Given the description of an element on the screen output the (x, y) to click on. 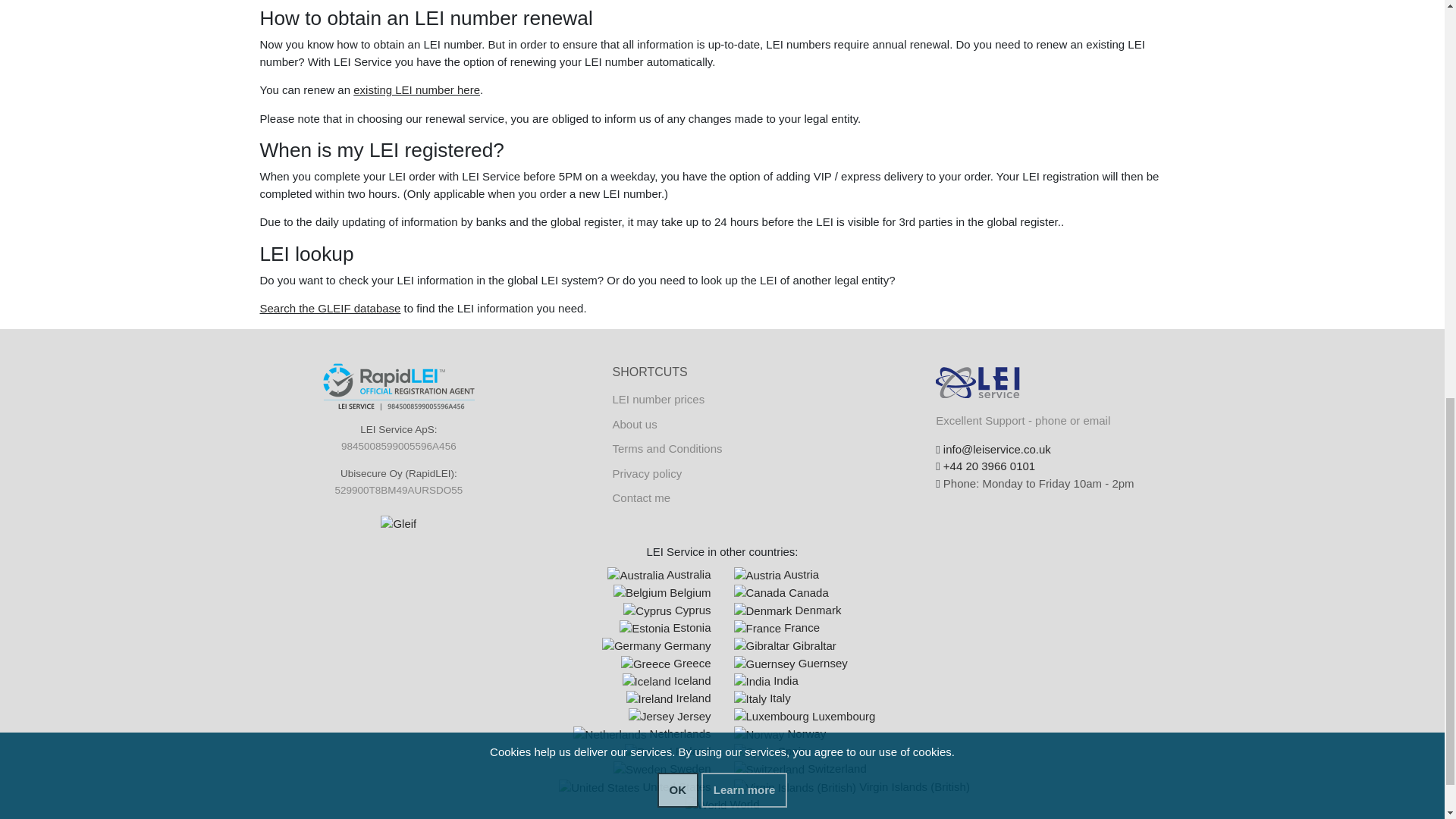
Canada (780, 592)
About us (633, 423)
Australia (658, 574)
existing LEI number here (416, 89)
France (757, 628)
Denmark (787, 609)
Belgium (639, 592)
Terms and Conditions (666, 448)
Belgium (661, 592)
9845008599005596A456 (398, 446)
Privacy policy (646, 472)
Search the GLEIF database (329, 308)
Denmark (762, 610)
Estonia (665, 626)
Austria (776, 574)
